Given the description of an element on the screen output the (x, y) to click on. 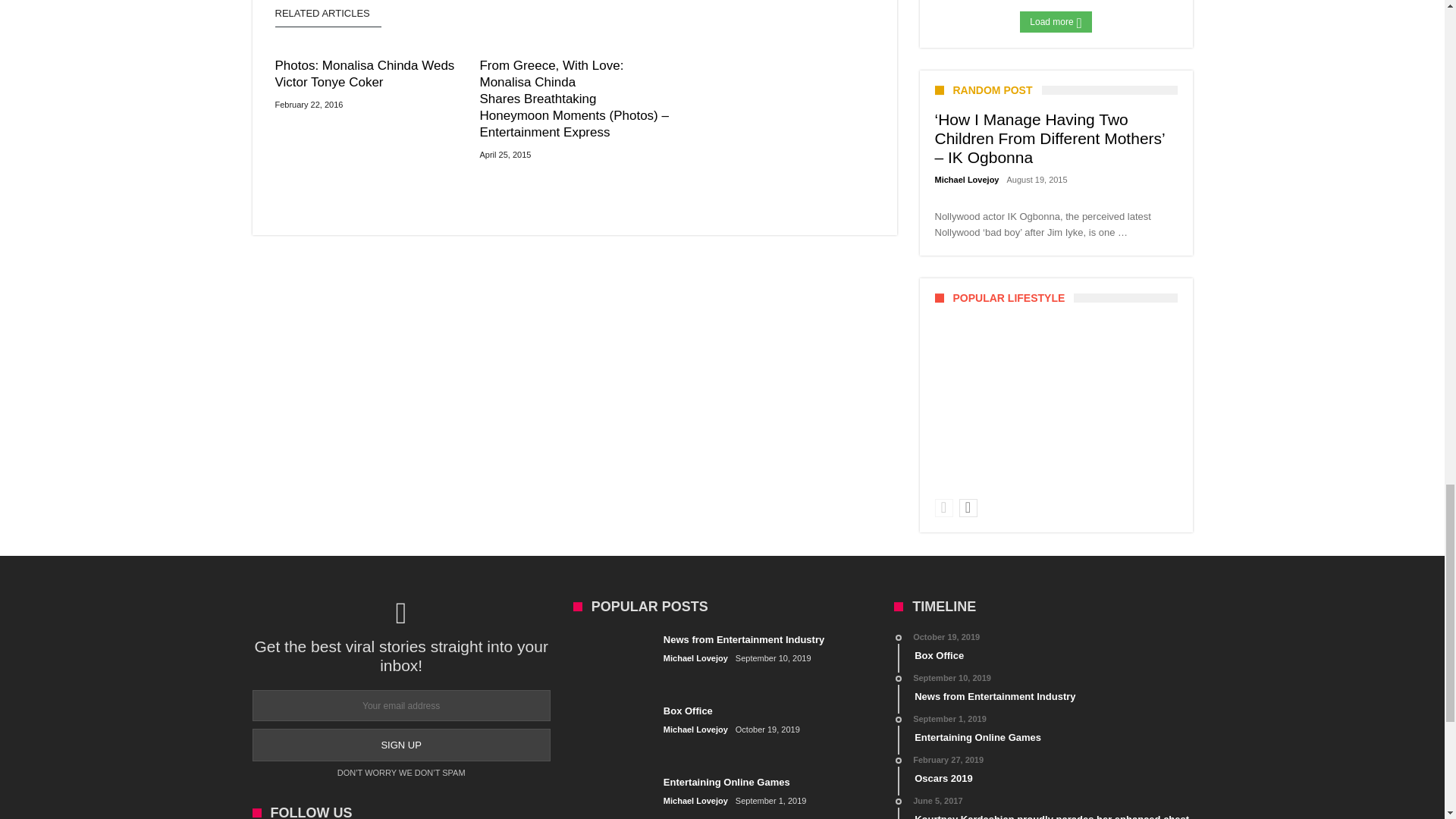
Posts by Michael Lovejoy (695, 729)
Sign up (400, 744)
Posts by Michael Lovejoy (966, 179)
Posts by Michael Lovejoy (695, 658)
Posts by Michael Lovejoy (695, 800)
